Given the description of an element on the screen output the (x, y) to click on. 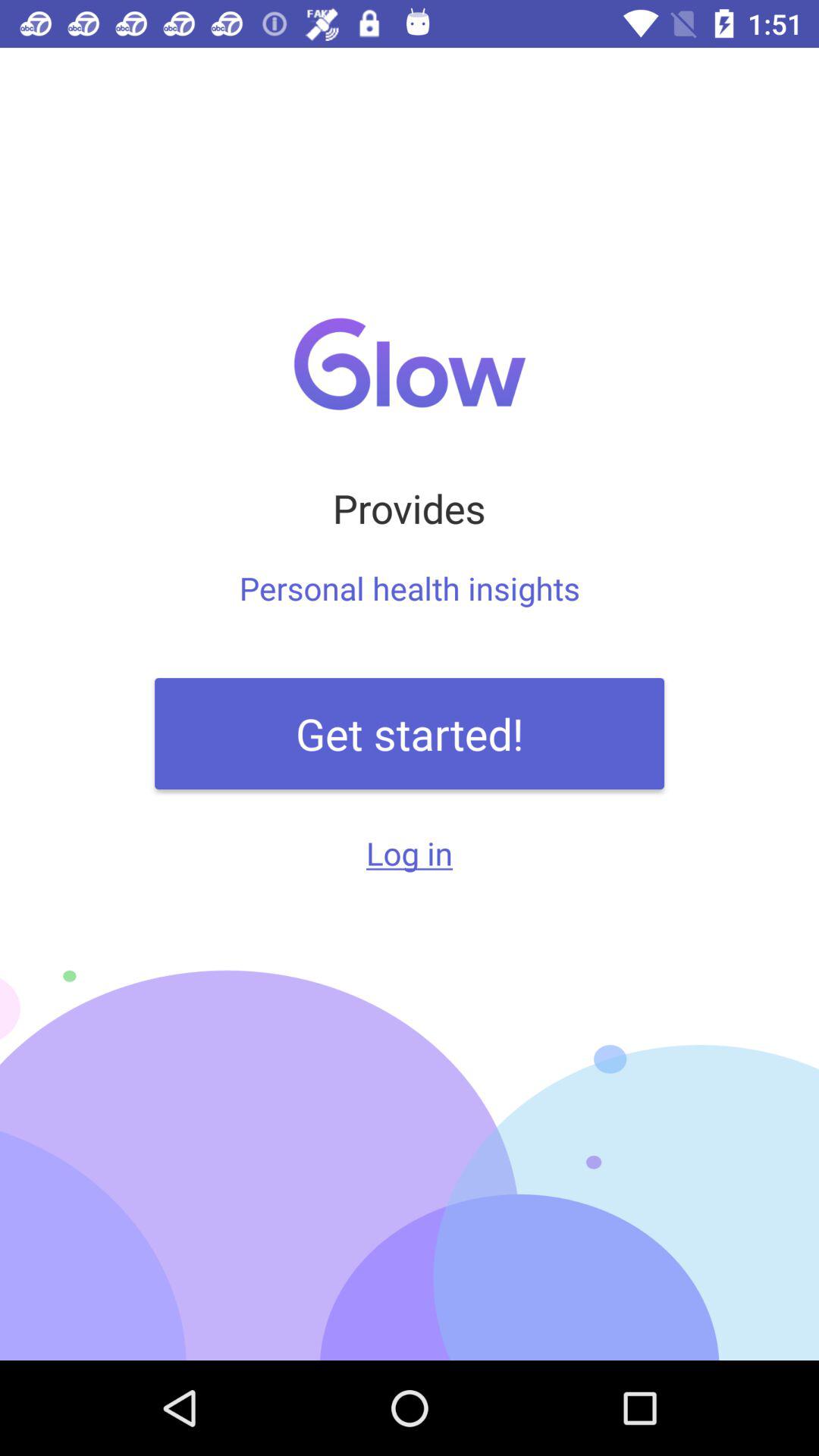
scroll until the get started! item (409, 733)
